Given the description of an element on the screen output the (x, y) to click on. 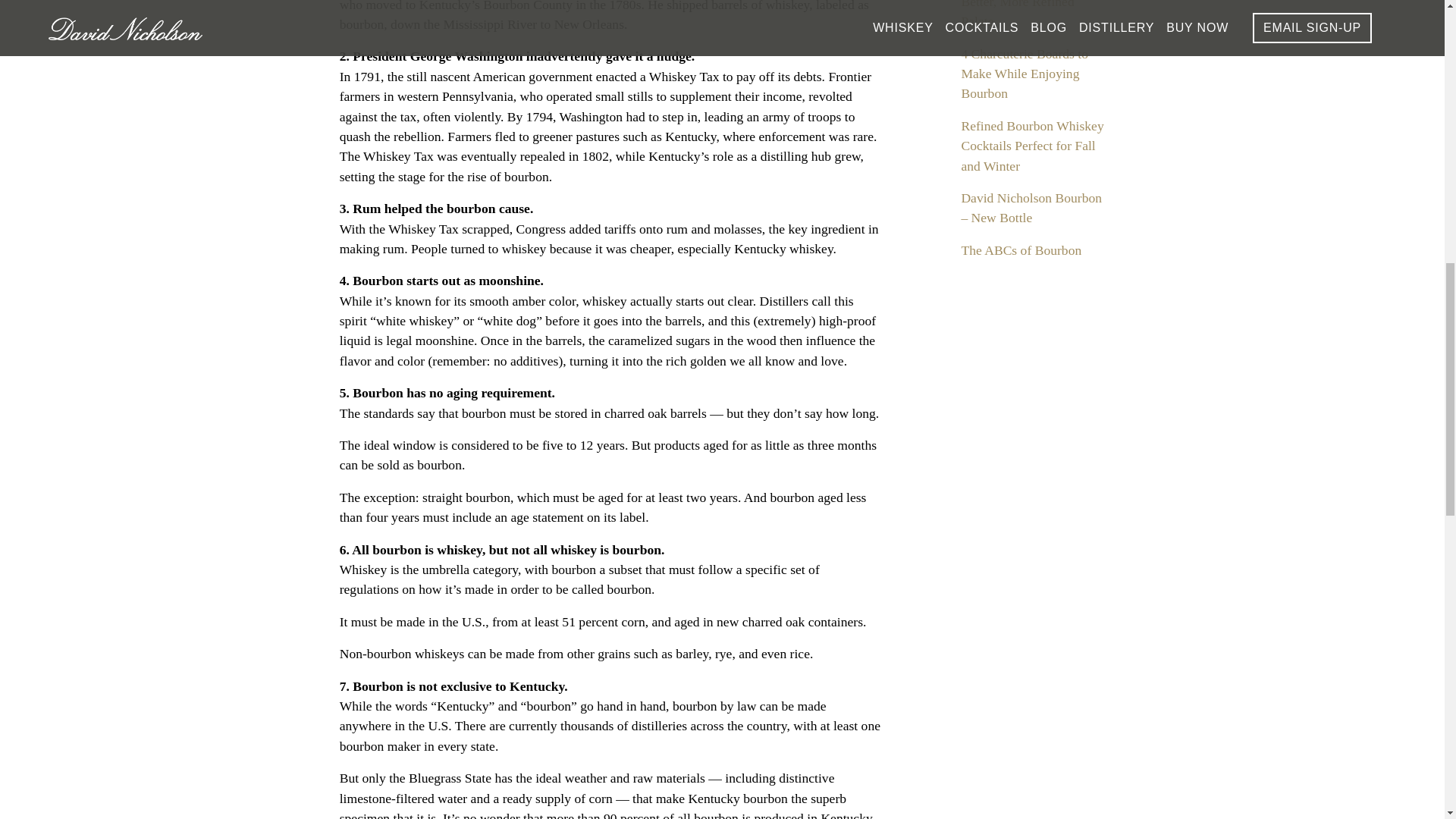
The ABCs of Bourbon (1020, 249)
4 Charcuterie Boards to Make While Enjoying Bourbon (1023, 73)
